Given the description of an element on the screen output the (x, y) to click on. 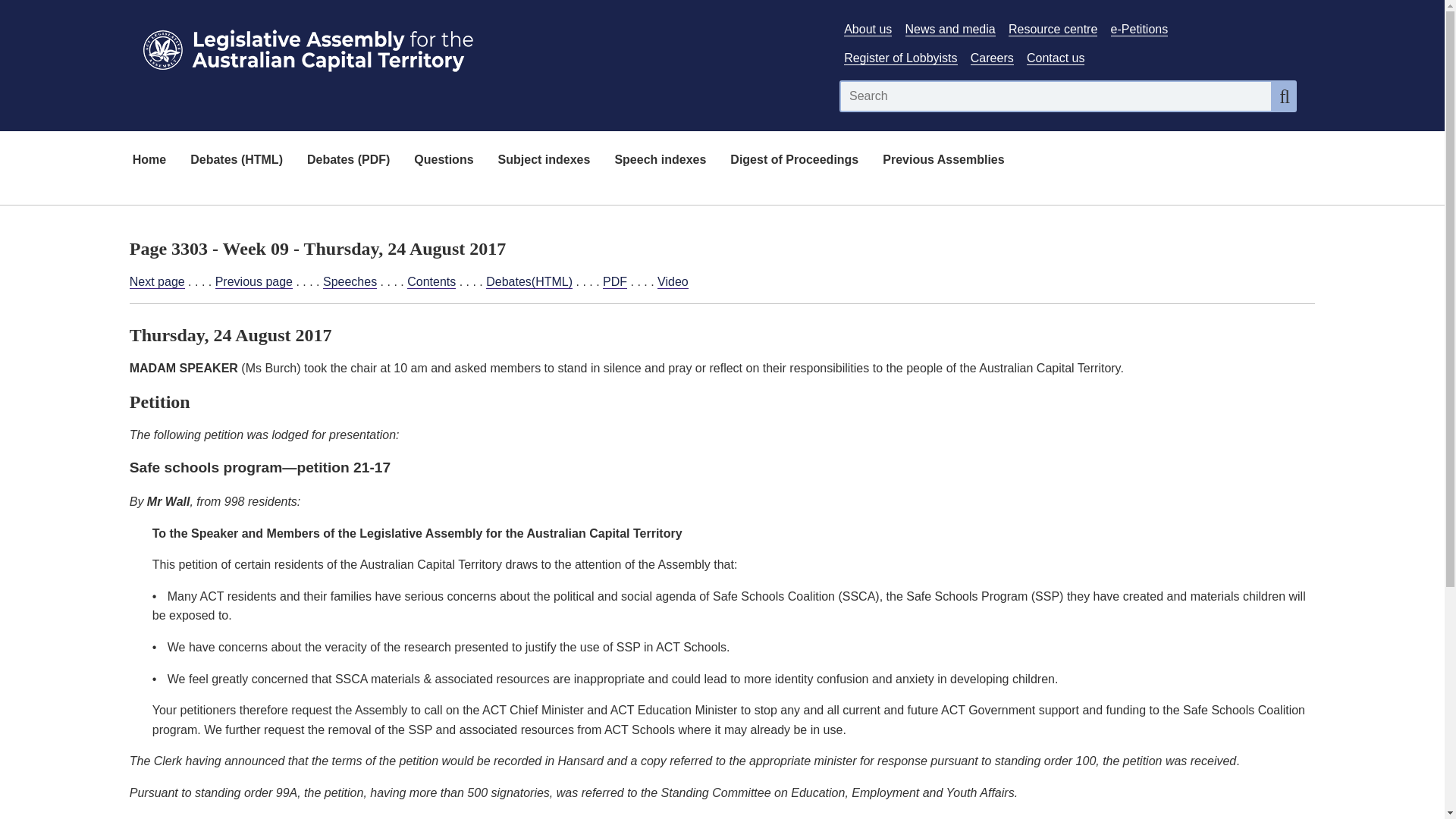
Speech indexes (659, 160)
Previous Assemblies (943, 160)
PDF (614, 282)
Resource centre (1053, 29)
Speeches (350, 282)
Link to Resource centre (1053, 29)
Link to Contact Us (1055, 58)
Link to Homepage (475, 46)
Subject indexes (544, 160)
Contact us (1055, 58)
